Given the description of an element on the screen output the (x, y) to click on. 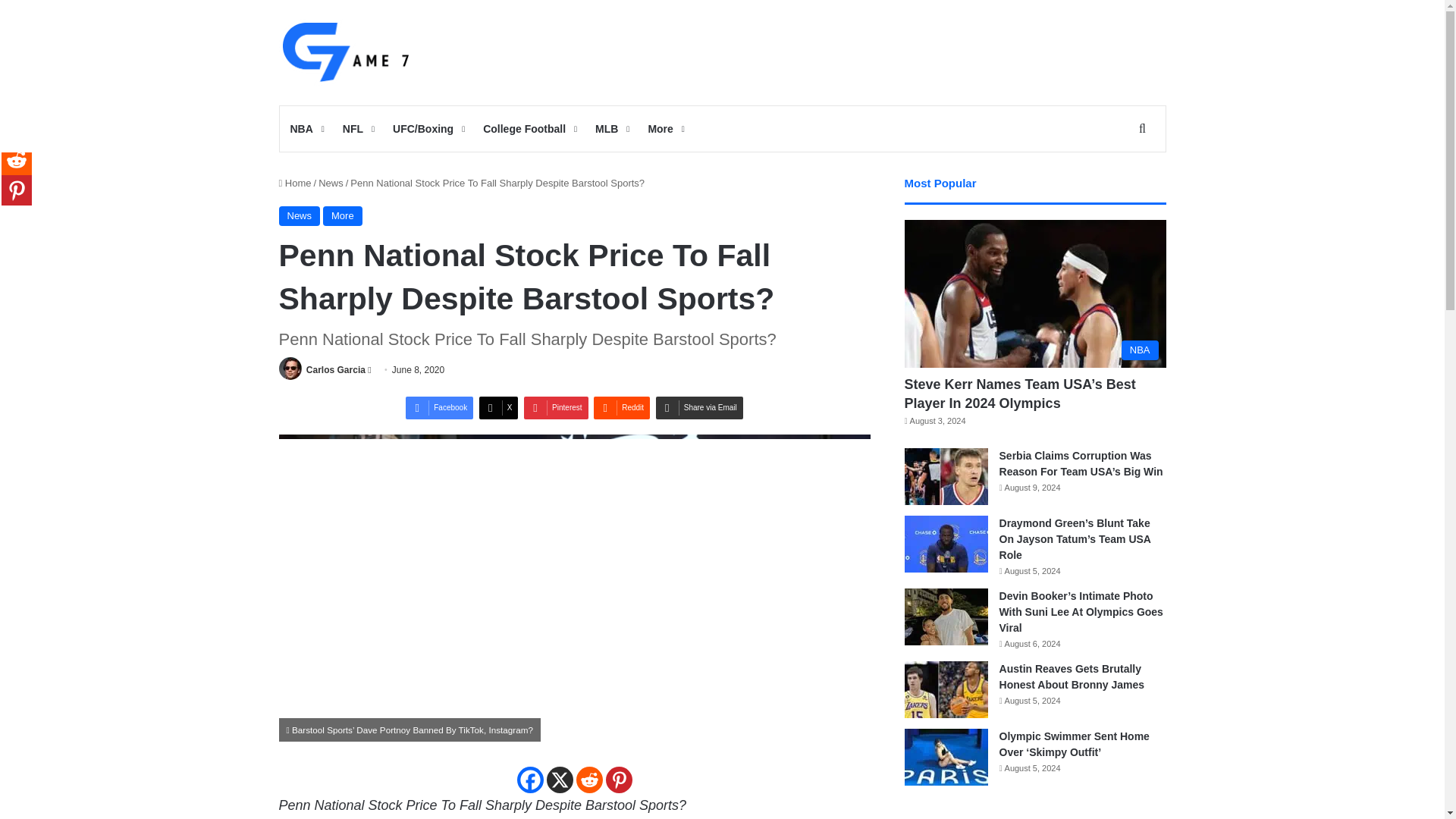
Pinterest (618, 779)
College Football (528, 128)
Facebook (529, 779)
Reddit (589, 779)
Carlos Garcia (335, 369)
Reddit (621, 407)
X (559, 779)
NBA (305, 128)
NFL (356, 128)
Pinterest (556, 407)
